Given the description of an element on the screen output the (x, y) to click on. 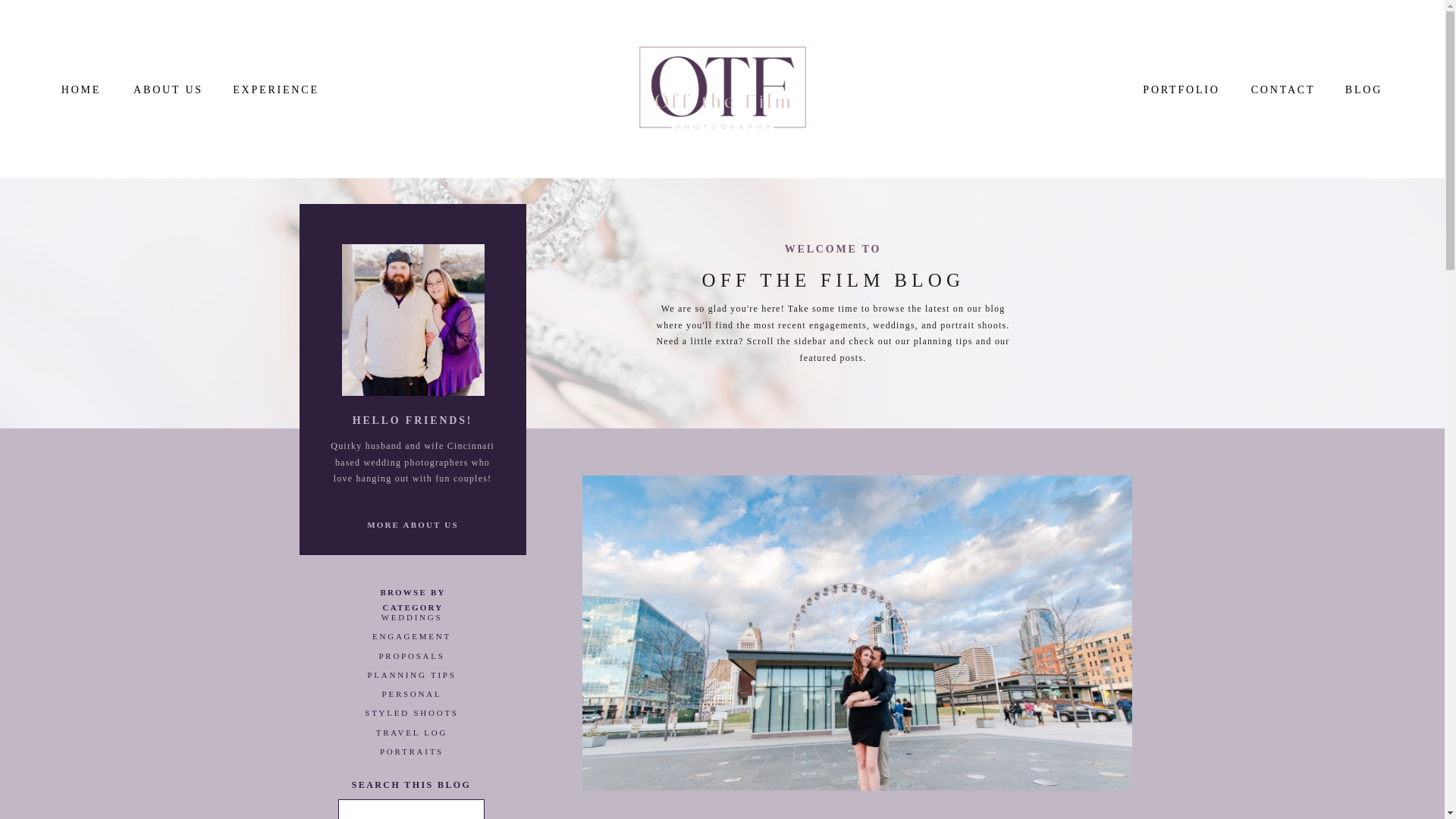
ABOUT US (168, 89)
BLOG (1364, 89)
PLANNING TIPS (411, 678)
WEDDINGS (411, 620)
OFF THE FILM BLOG (833, 281)
CONTACT (1283, 89)
EXPERIENCE (275, 89)
PORTRAITS (411, 754)
HOME (81, 89)
ENGAGEMENT (411, 639)
PORTFOLIO (1181, 89)
